Given the description of an element on the screen output the (x, y) to click on. 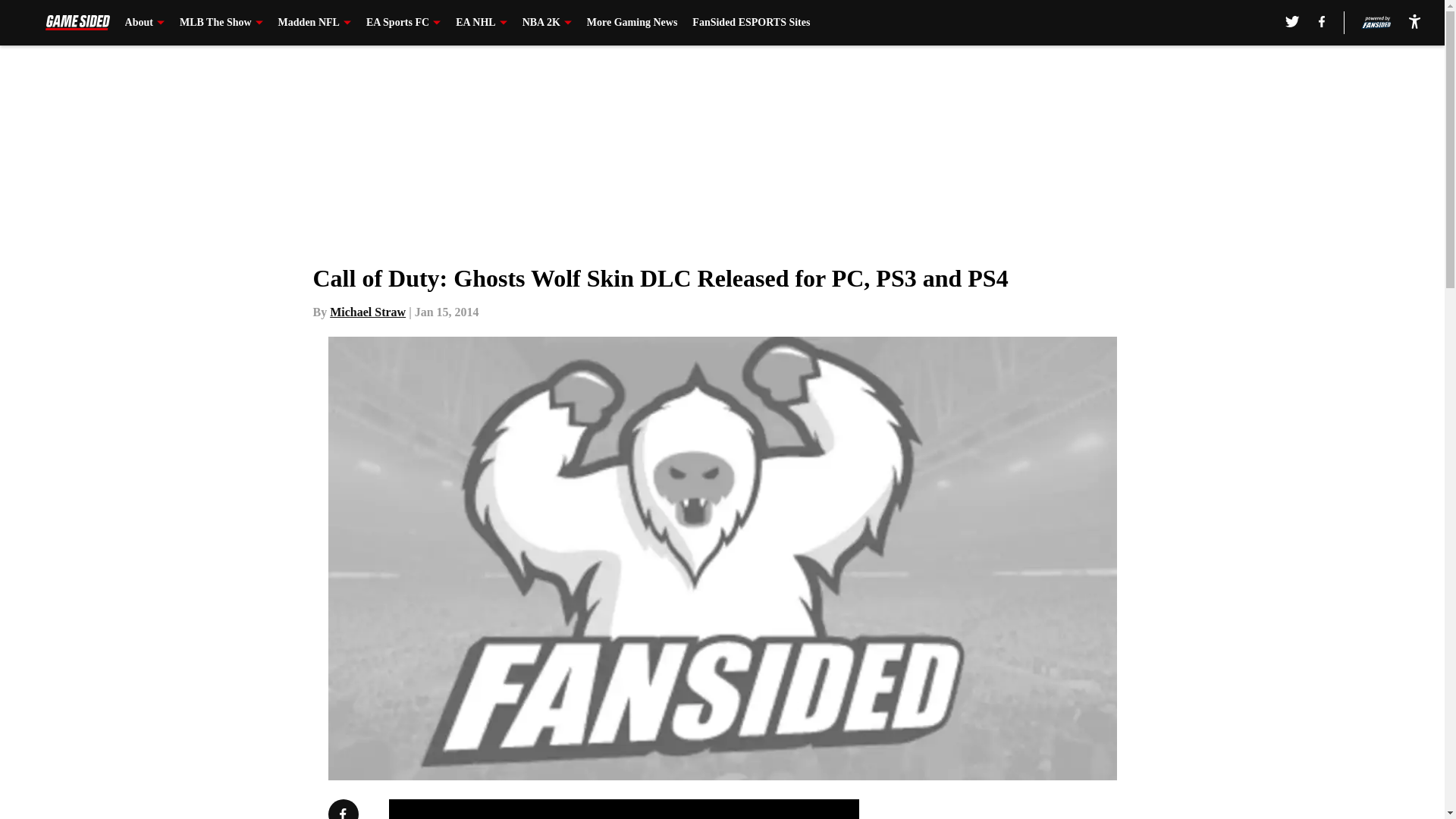
More Gaming News (632, 22)
Michael Straw (368, 311)
FanSided ESPORTS Sites (751, 22)
